Given the description of an element on the screen output the (x, y) to click on. 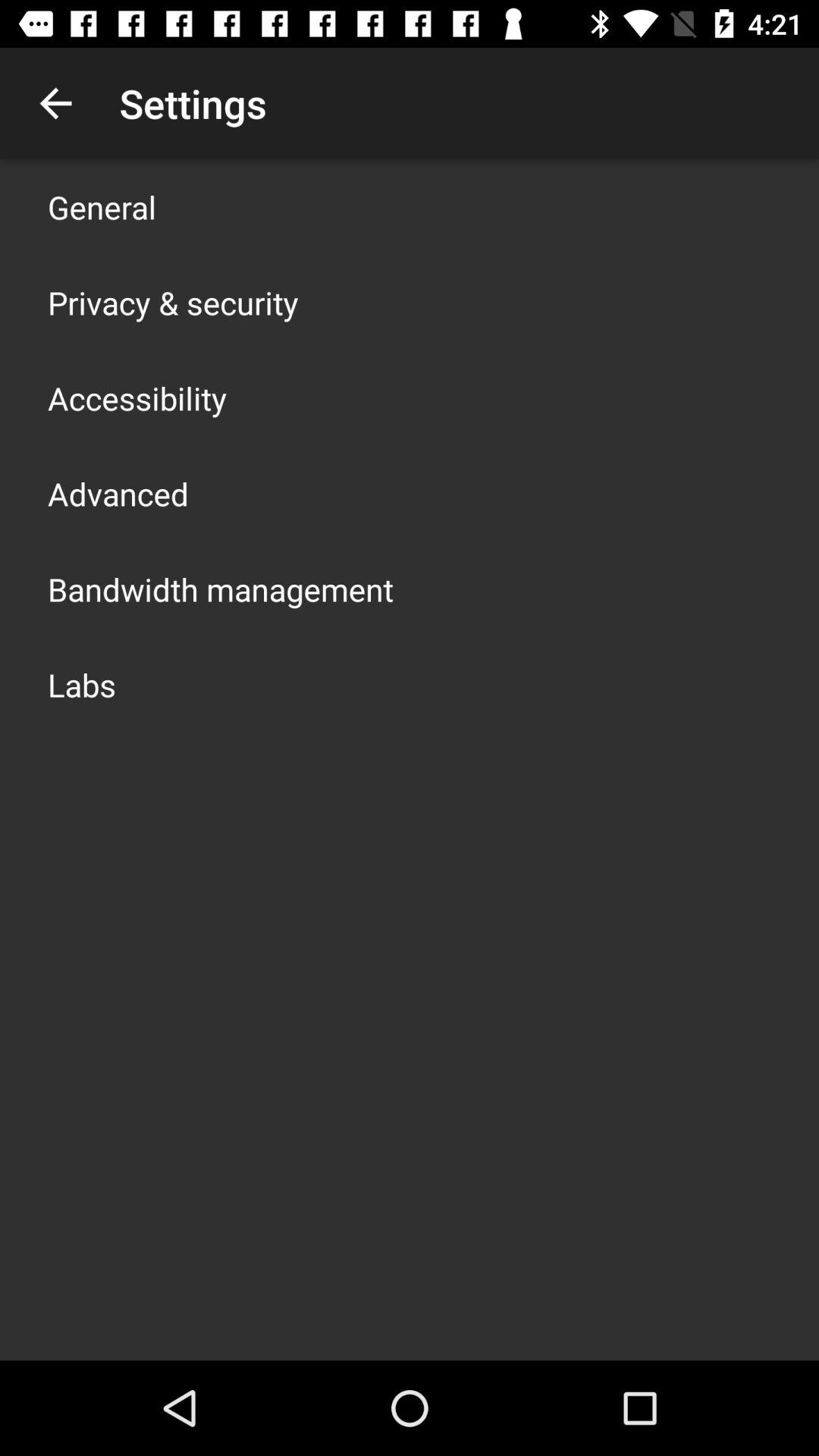
jump to the accessibility app (136, 397)
